Given the description of an element on the screen output the (x, y) to click on. 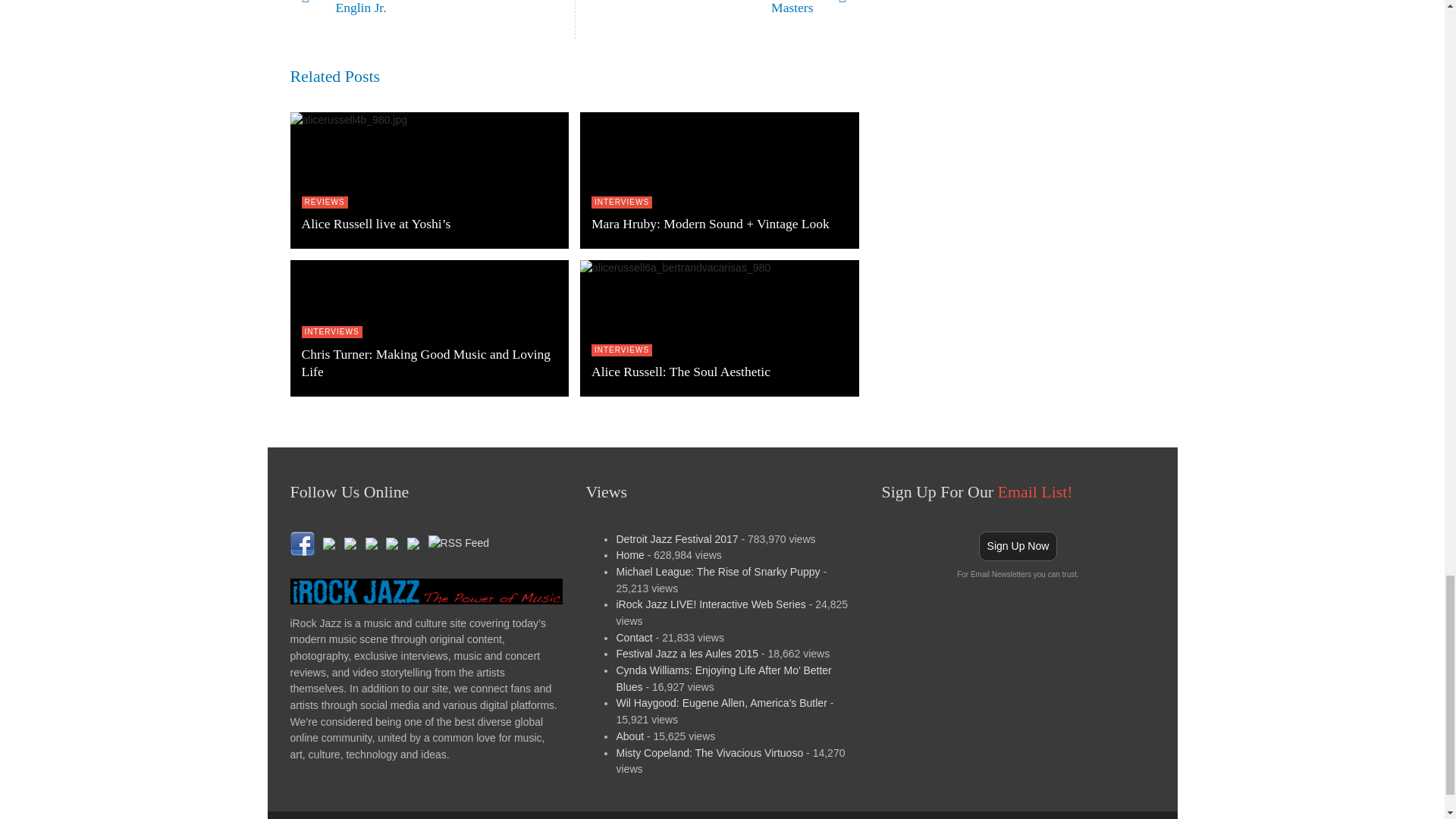
INTERVIEWS (431, 19)
View all posts in Reviews (621, 202)
REVIEWS (324, 202)
INTERVIEWS (717, 19)
